Given the description of an element on the screen output the (x, y) to click on. 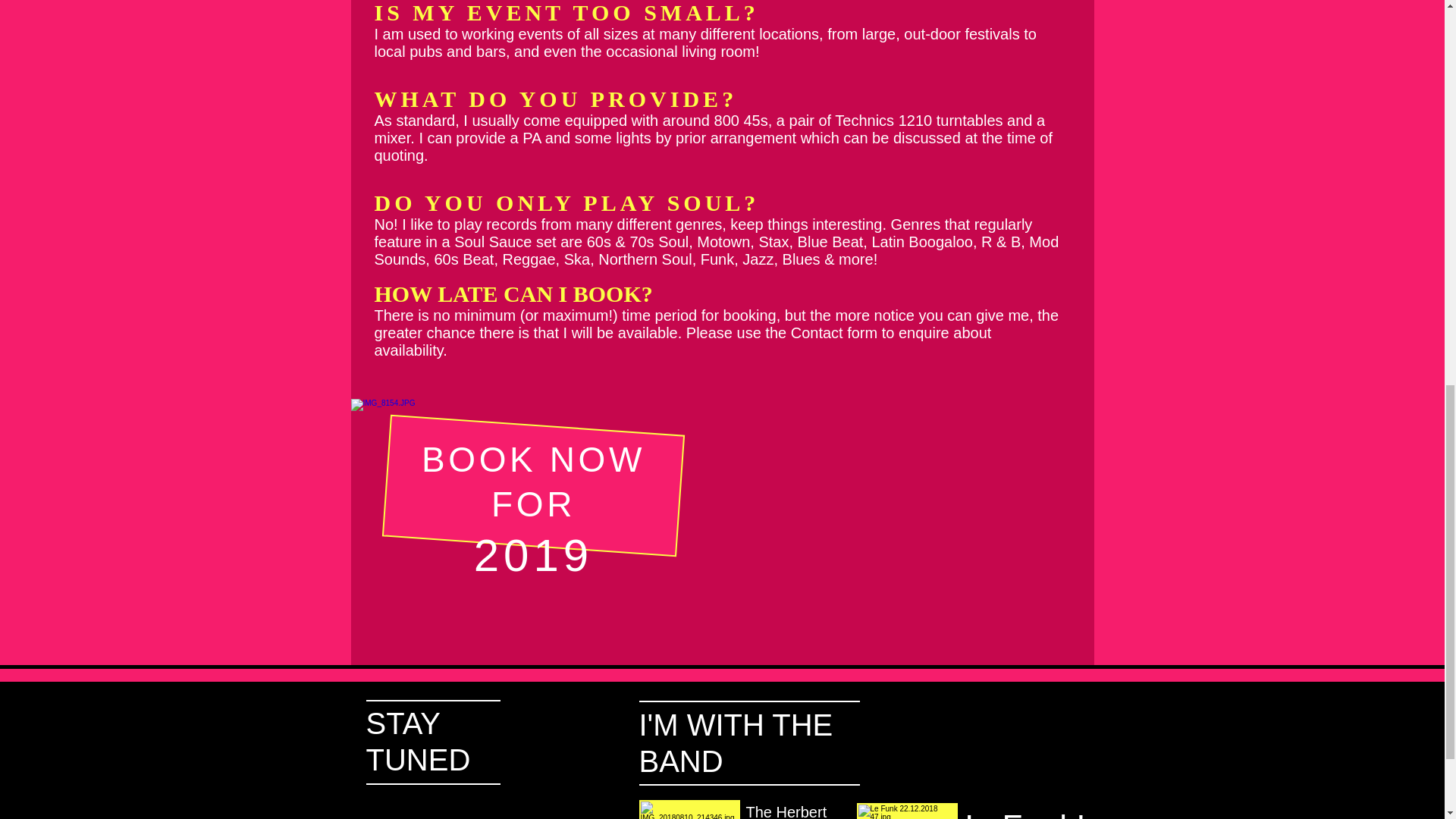
LeFunk! (1023, 813)
